Given the description of an element on the screen output the (x, y) to click on. 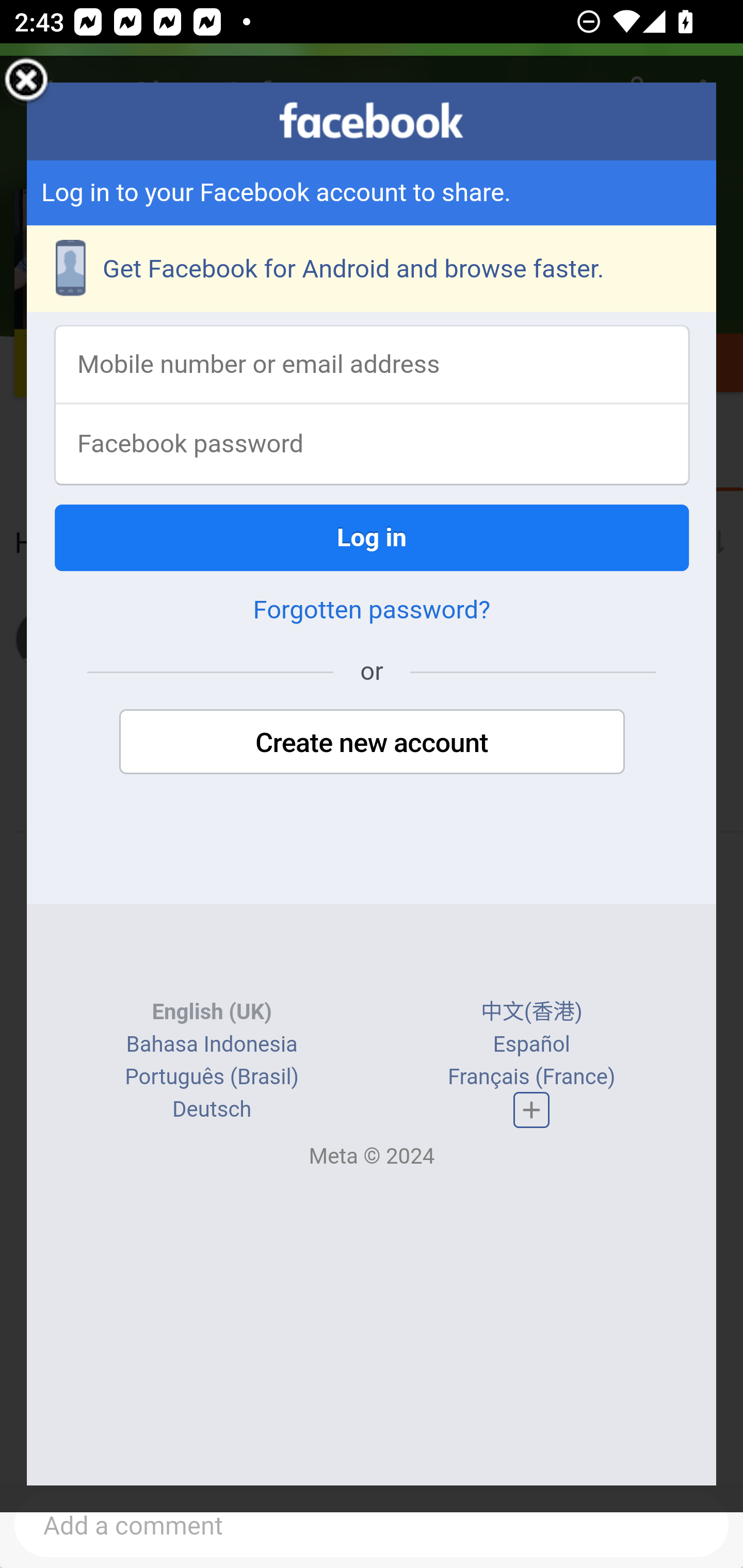
facebook (372, 121)
Get Facebook for Android and browse faster. (372, 270)
Log in (372, 538)
Forgotten password? (371, 611)
Create new account (371, 743)
中文(香港) (531, 1013)
Bahasa Indonesia (210, 1044)
Español (530, 1044)
Português (Brasil) (211, 1077)
Français (France) (530, 1077)
Complete list of languages (531, 1110)
Deutsch (211, 1110)
